Given the description of an element on the screen output the (x, y) to click on. 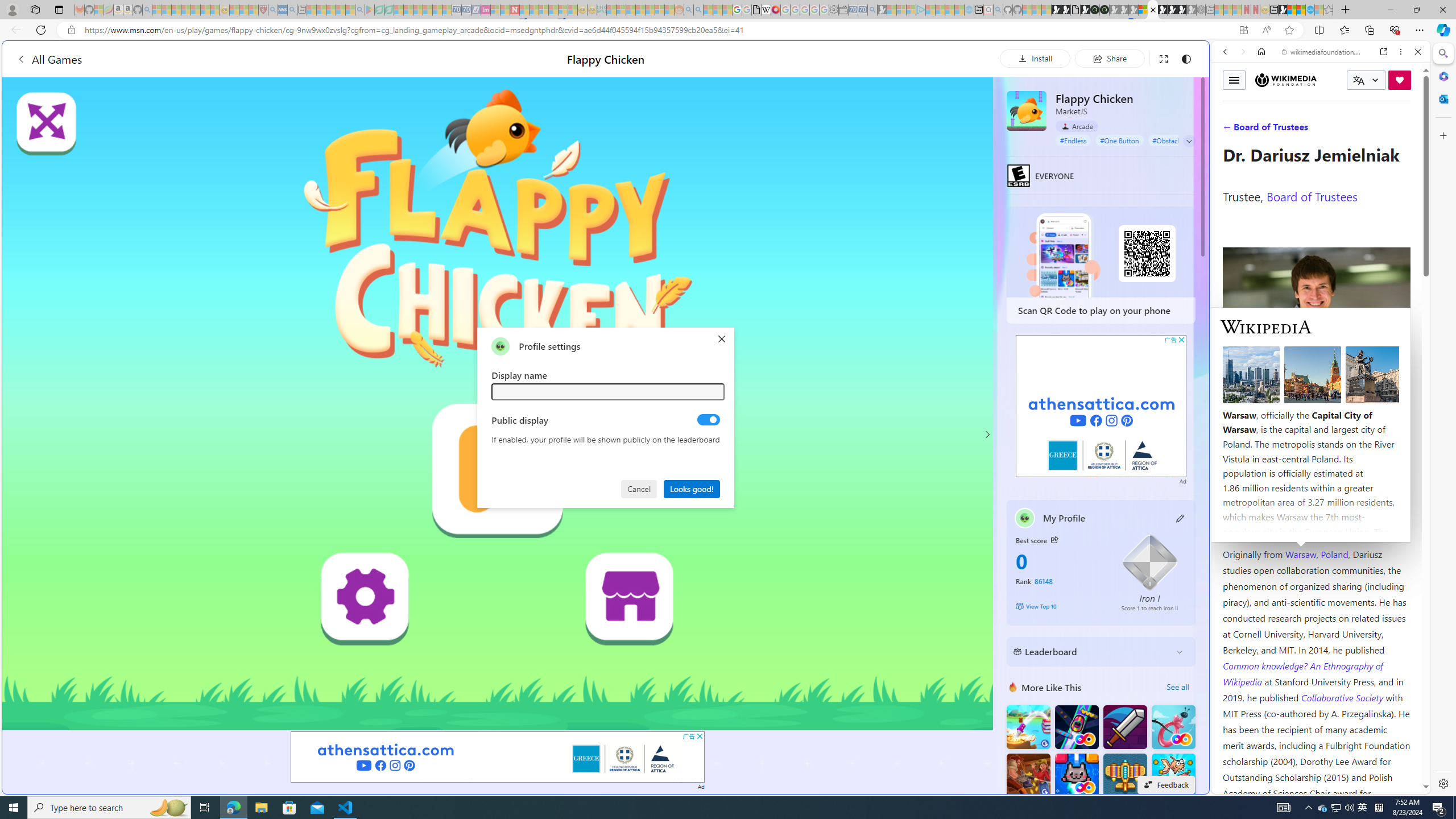
Wikimedia Foundation (1285, 79)
Jobs - lastminute.com Investor Portal - Sleeping (485, 9)
Harvard University (1259, 526)
MediaWiki (774, 9)
Class: expand-arrow neutral (1188, 141)
Bing Real Estate - Home sales and rental listings - Sleeping (872, 9)
World - MSN (727, 389)
Atlantic Sky Hunter (1124, 775)
